Given the description of an element on the screen output the (x, y) to click on. 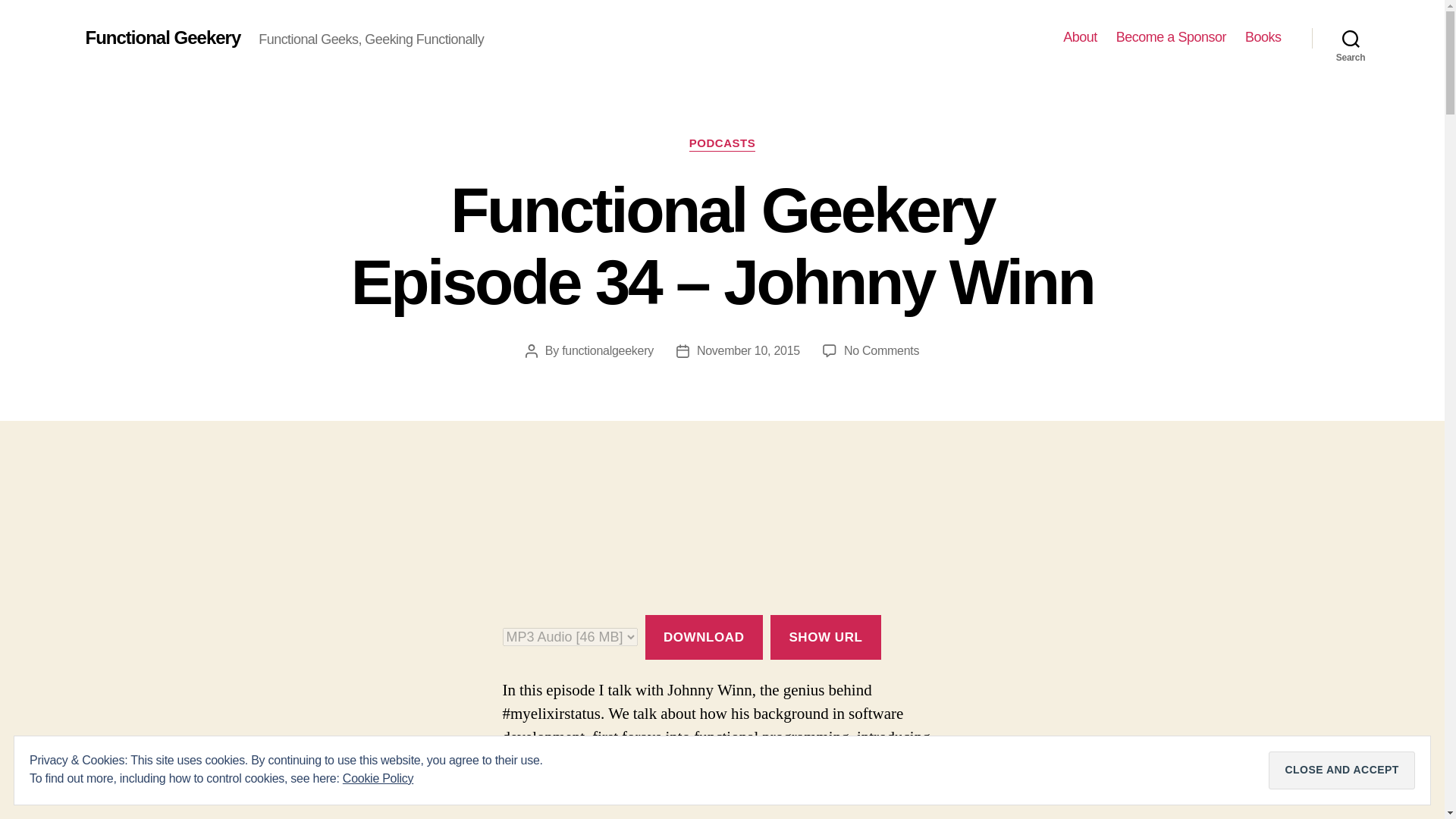
Search (1350, 37)
Books (1262, 37)
Become a Sponsor (1170, 37)
Close and accept (1341, 770)
functionalgeekery (607, 350)
Functional Geekery (162, 37)
SHOW URL (825, 637)
PODCASTS (721, 143)
November 10, 2015 (748, 350)
DOWNLOAD (703, 637)
